Given the description of an element on the screen output the (x, y) to click on. 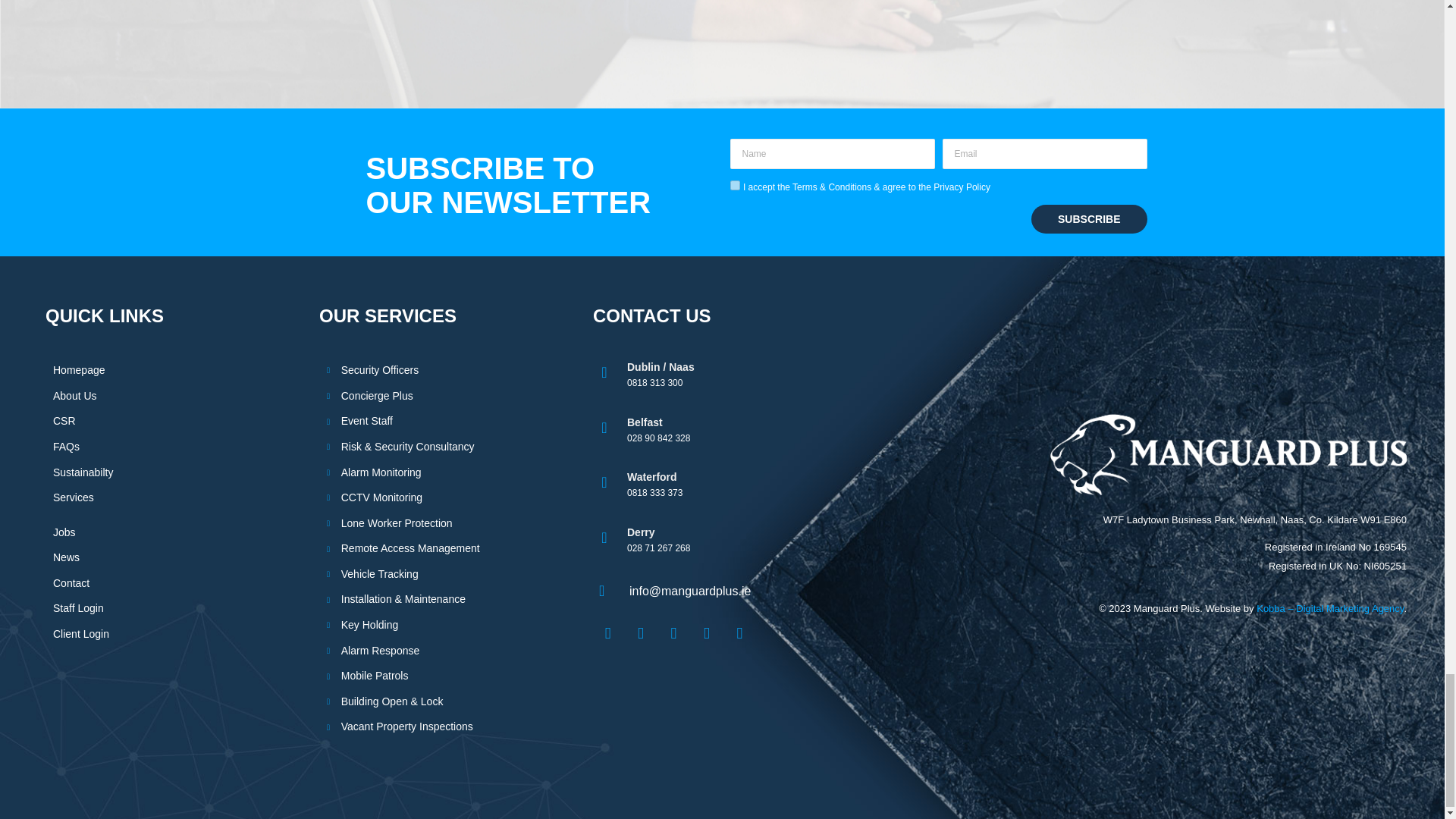
on (734, 185)
